Given the description of an element on the screen output the (x, y) to click on. 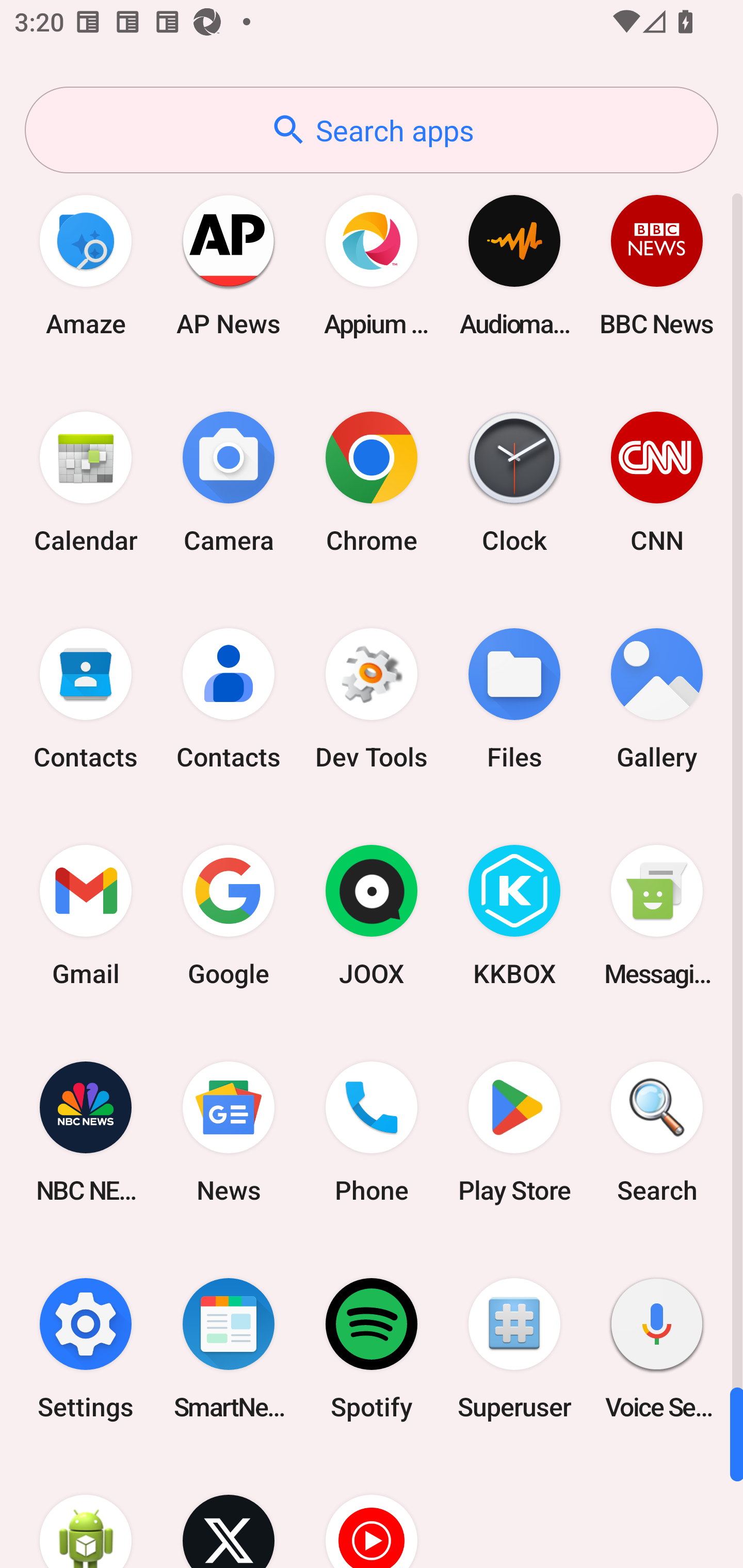
  Search apps (371, 130)
Amaze (85, 264)
AP News (228, 264)
Appium Settings (371, 264)
Audio­mack (514, 264)
BBC News (656, 264)
Calendar (85, 482)
Camera (228, 482)
Chrome (371, 482)
Clock (514, 482)
CNN (656, 482)
Contacts (85, 699)
Contacts (228, 699)
Dev Tools (371, 699)
Files (514, 699)
Gallery (656, 699)
Gmail (85, 915)
Google (228, 915)
JOOX (371, 915)
KKBOX (514, 915)
Messaging (656, 915)
NBC NEWS (85, 1131)
News (228, 1131)
Phone (371, 1131)
Play Store (514, 1131)
Search (656, 1131)
Settings (85, 1348)
SmartNews (228, 1348)
Spotify (371, 1348)
Superuser (514, 1348)
Voice Search (656, 1348)
WebView Browser Tester (85, 1512)
X (228, 1512)
YT Music (371, 1512)
